Given the description of an element on the screen output the (x, y) to click on. 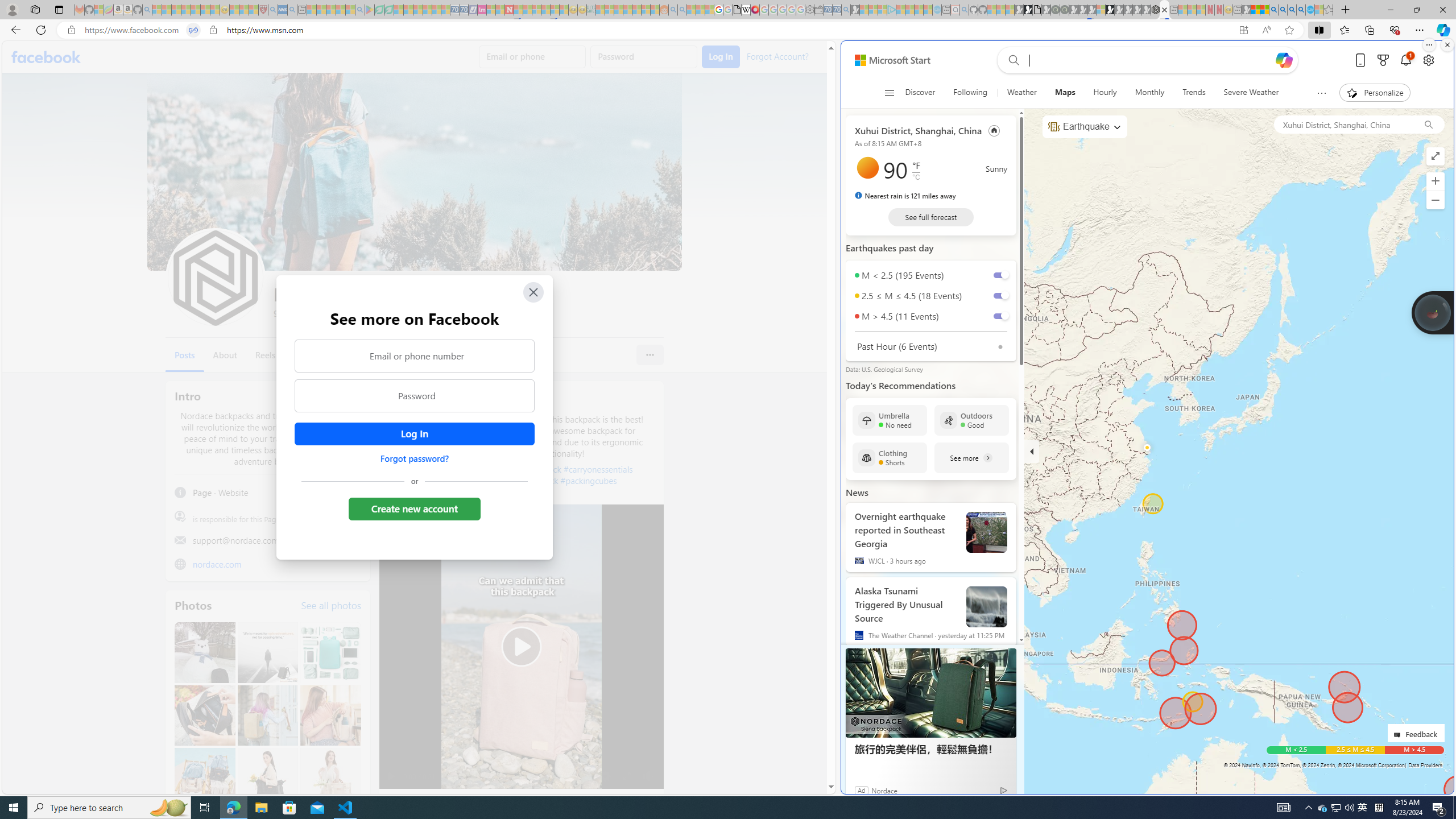
Class: button-glyph (888, 92)
Minimize (1390, 9)
google - Search - Sleeping (359, 9)
App bar (728, 29)
News (856, 491)
Alaska Tsunami Triggered By Unusual Source (905, 602)
See more (971, 457)
Cheap Car Rentals - Save70.com - Sleeping (836, 9)
Set as primary location (994, 130)
Bing Real Estate - Home sales and rental listings - Sleeping (846, 9)
Microsoft account | Privacy - Sleeping (882, 9)
